Given the description of an element on the screen output the (x, y) to click on. 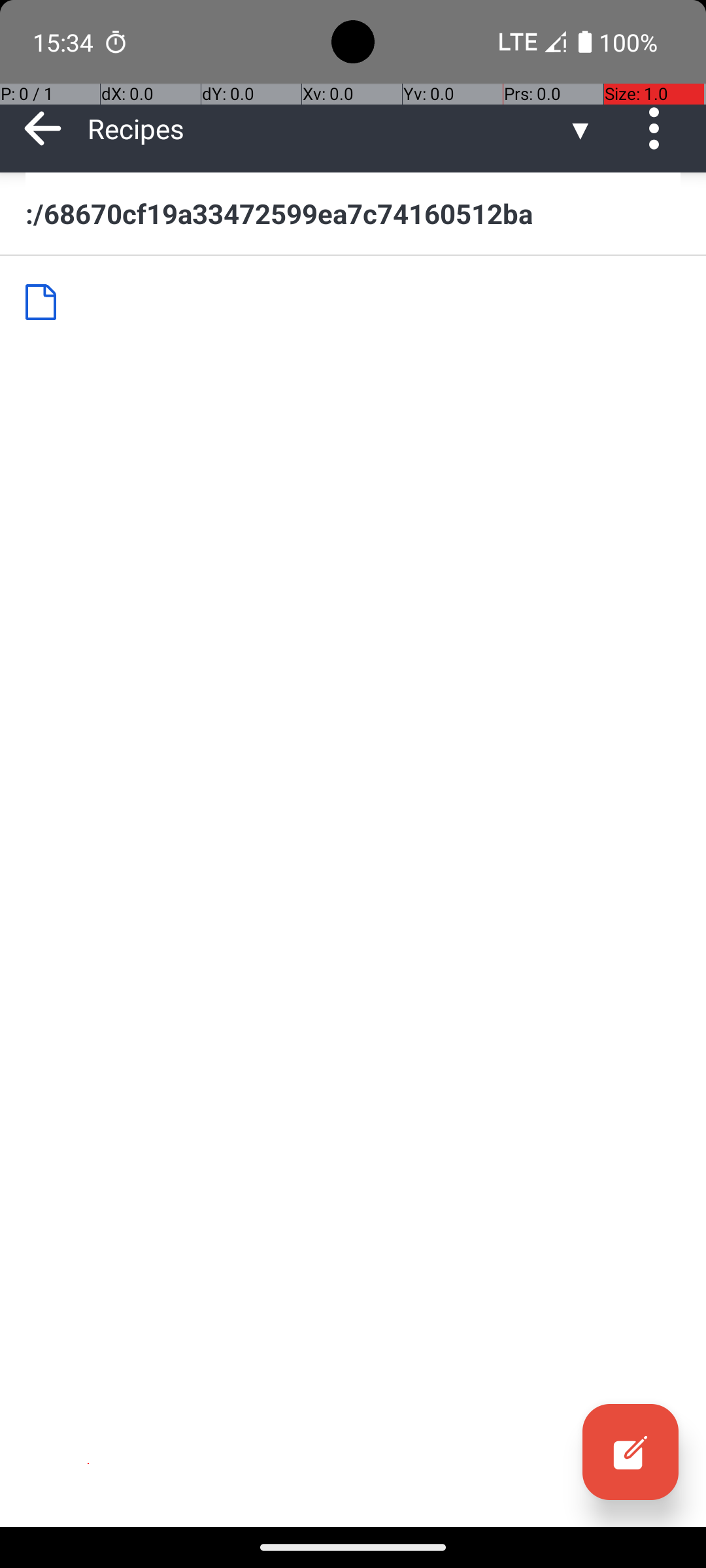
:/68670cf19a33472599ea7c74160512ba Element type: android.widget.EditText (352, 213)
NoteBodyViewer Element type: android.view.View (45, 301)
